Given the description of an element on the screen output the (x, y) to click on. 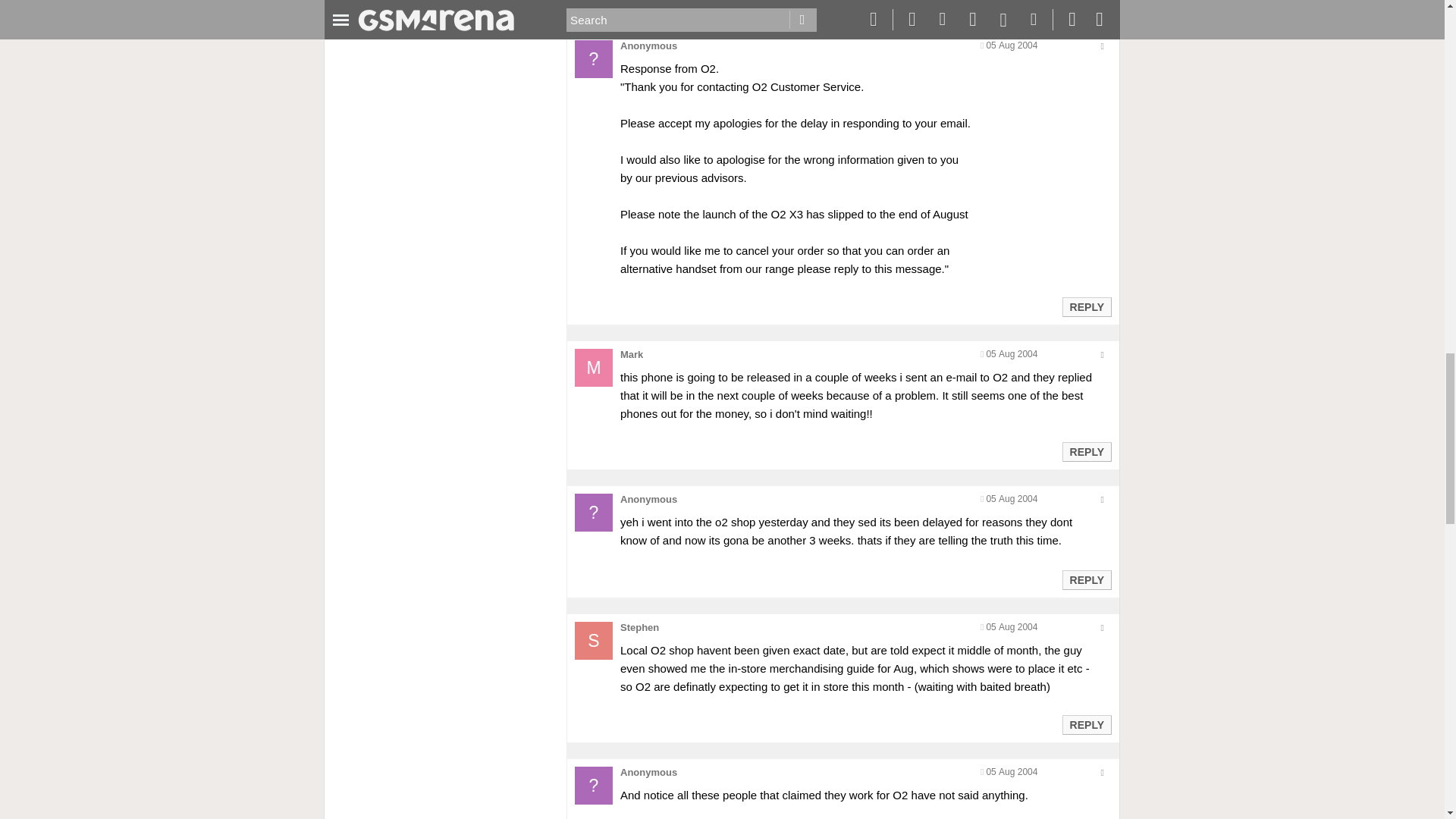
Reply to this post (1086, 725)
Reply to this post (1086, 580)
Reply to this post (1086, 2)
Reply to this post (1086, 306)
Reply to this post (1086, 451)
